Given the description of an element on the screen output the (x, y) to click on. 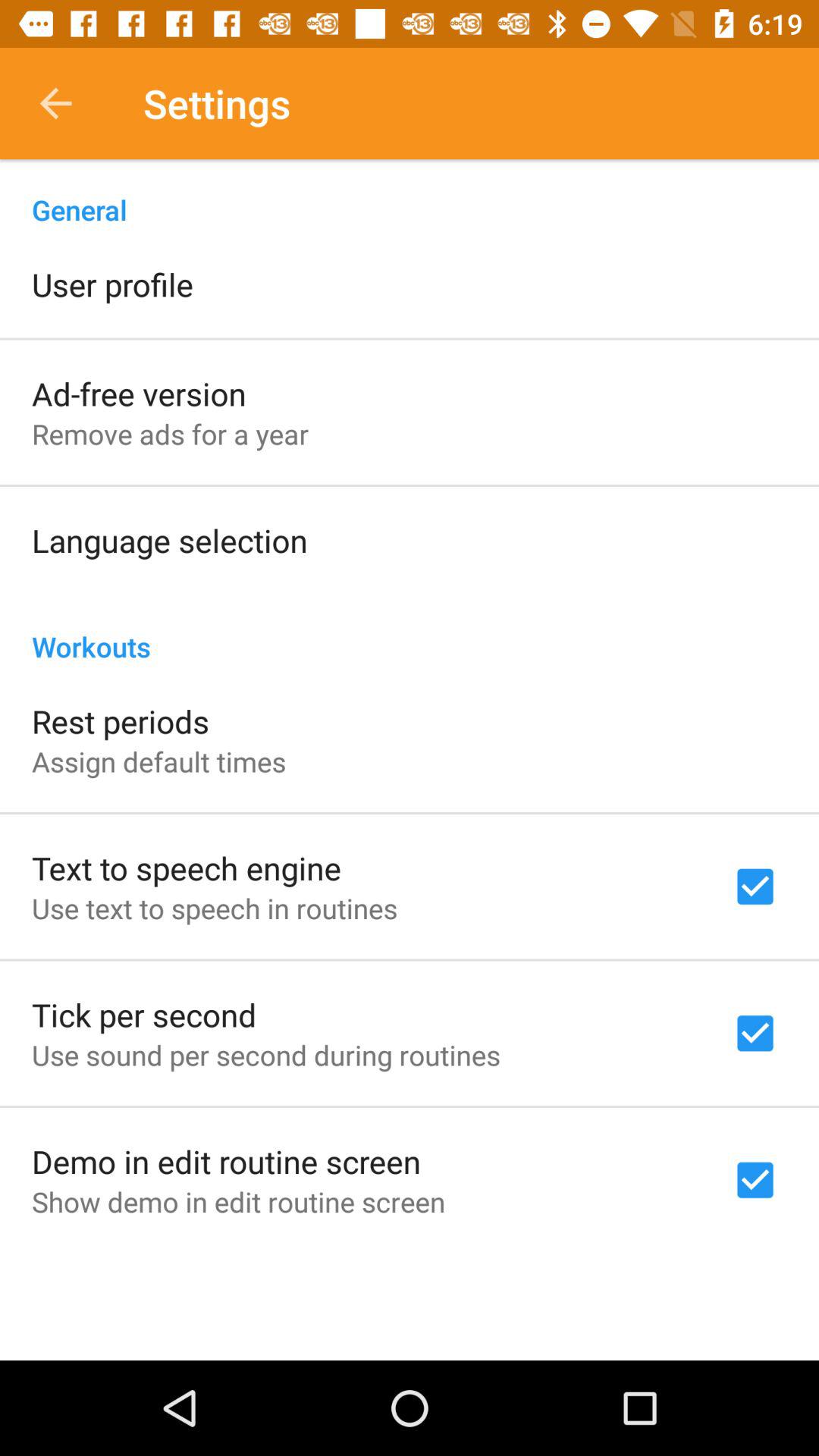
swipe until the use sound per (265, 1054)
